Given the description of an element on the screen output the (x, y) to click on. 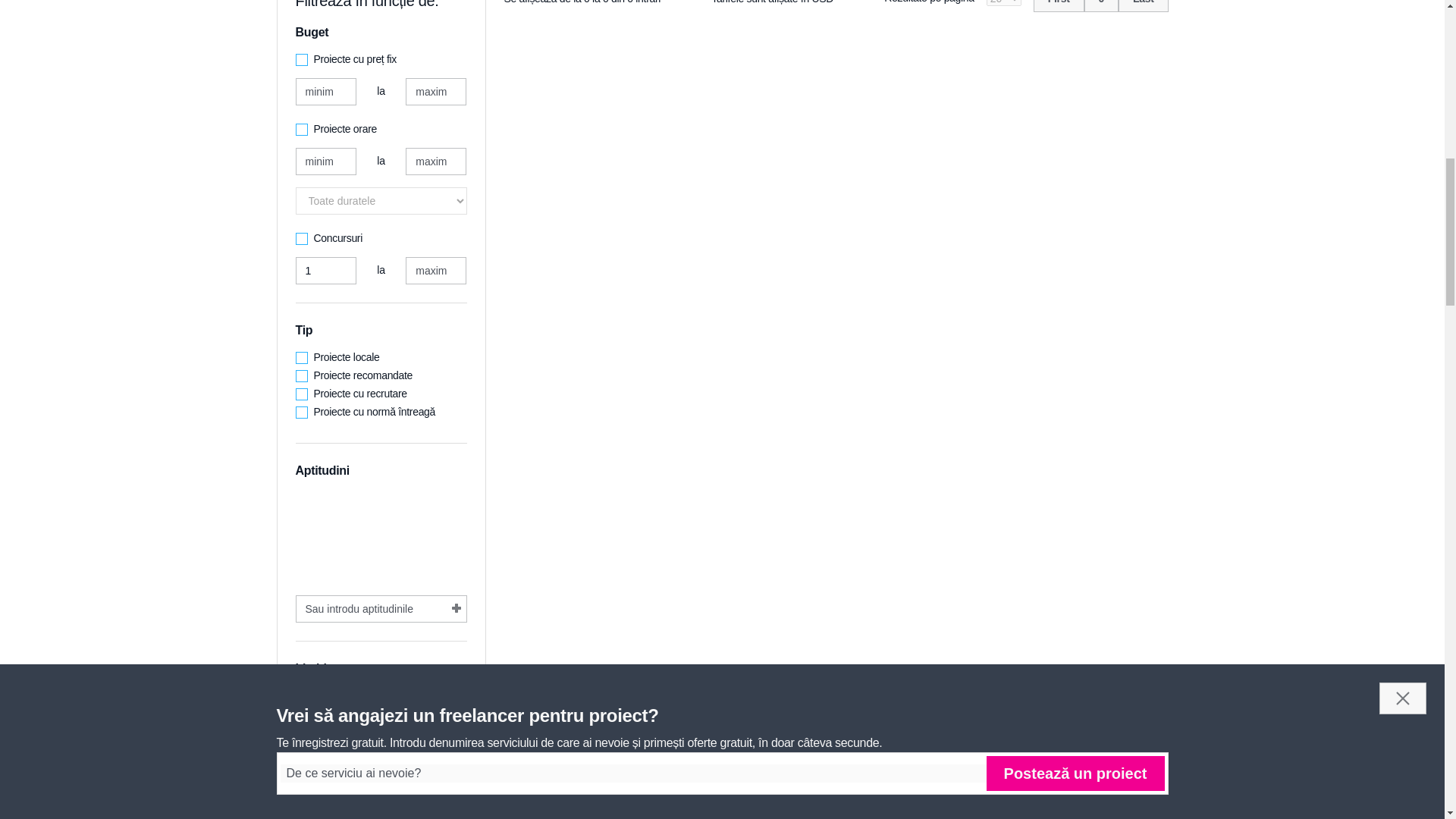
0 (1101, 6)
First (1058, 6)
1 (325, 270)
Last (1143, 6)
